Given the description of an element on the screen output the (x, y) to click on. 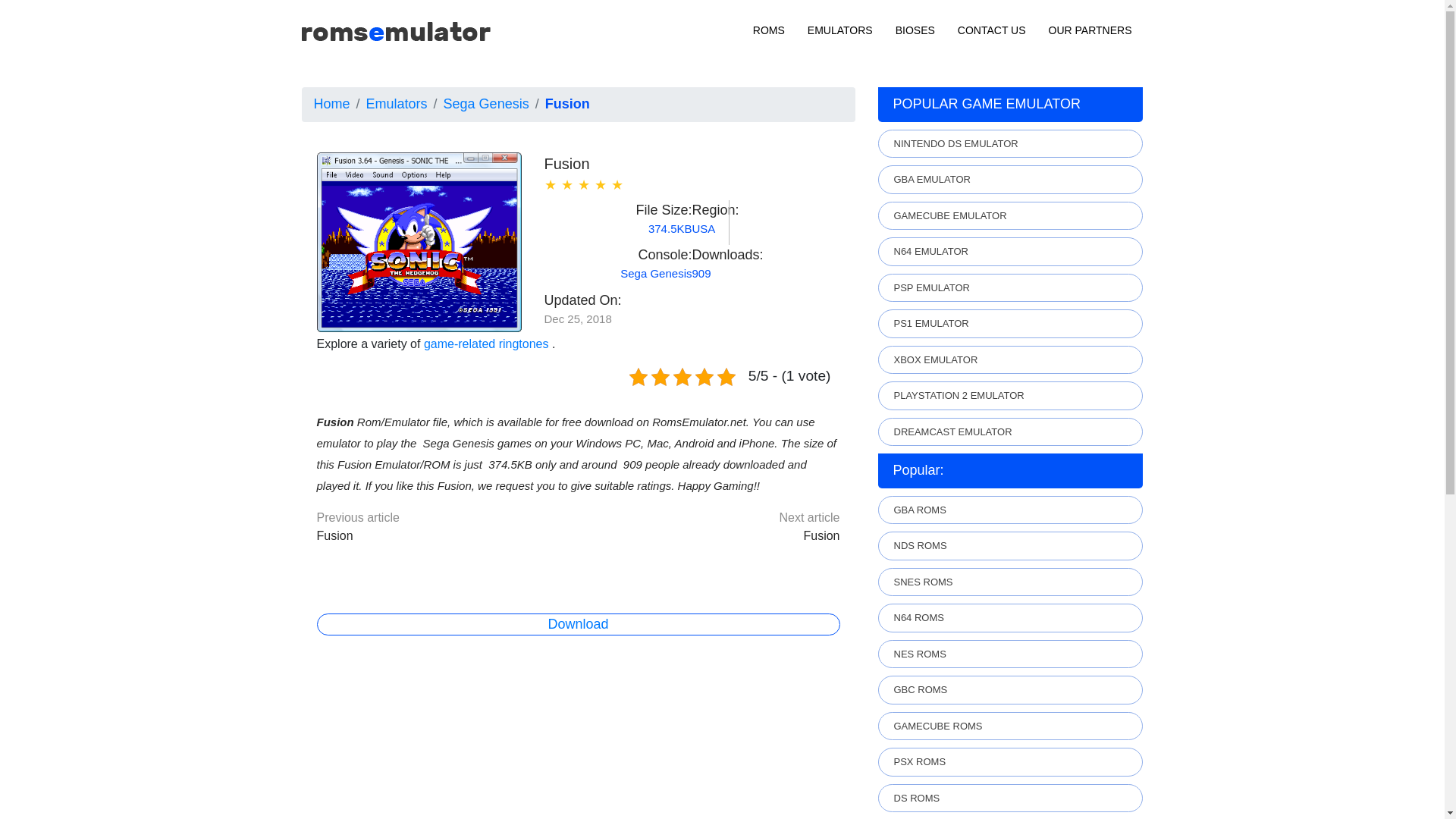
GBA EMULATOR (1009, 179)
CONTACT US (991, 30)
Sega Genesis (486, 103)
DREAMCAST EMULATOR (1009, 431)
PLAYSTATION 2 EMULATOR (1009, 395)
PSP EMULATOR (1009, 287)
NINTENDO DS EMULATOR (1009, 143)
OUR PARTNERS (1089, 30)
Fusion (821, 535)
BIOSES (914, 30)
game-related ringtones (485, 343)
Emulators (397, 103)
EMULATORS (839, 30)
GAMECUBE EMULATOR (1009, 215)
GBA ROMS (1009, 510)
